Given the description of an element on the screen output the (x, y) to click on. 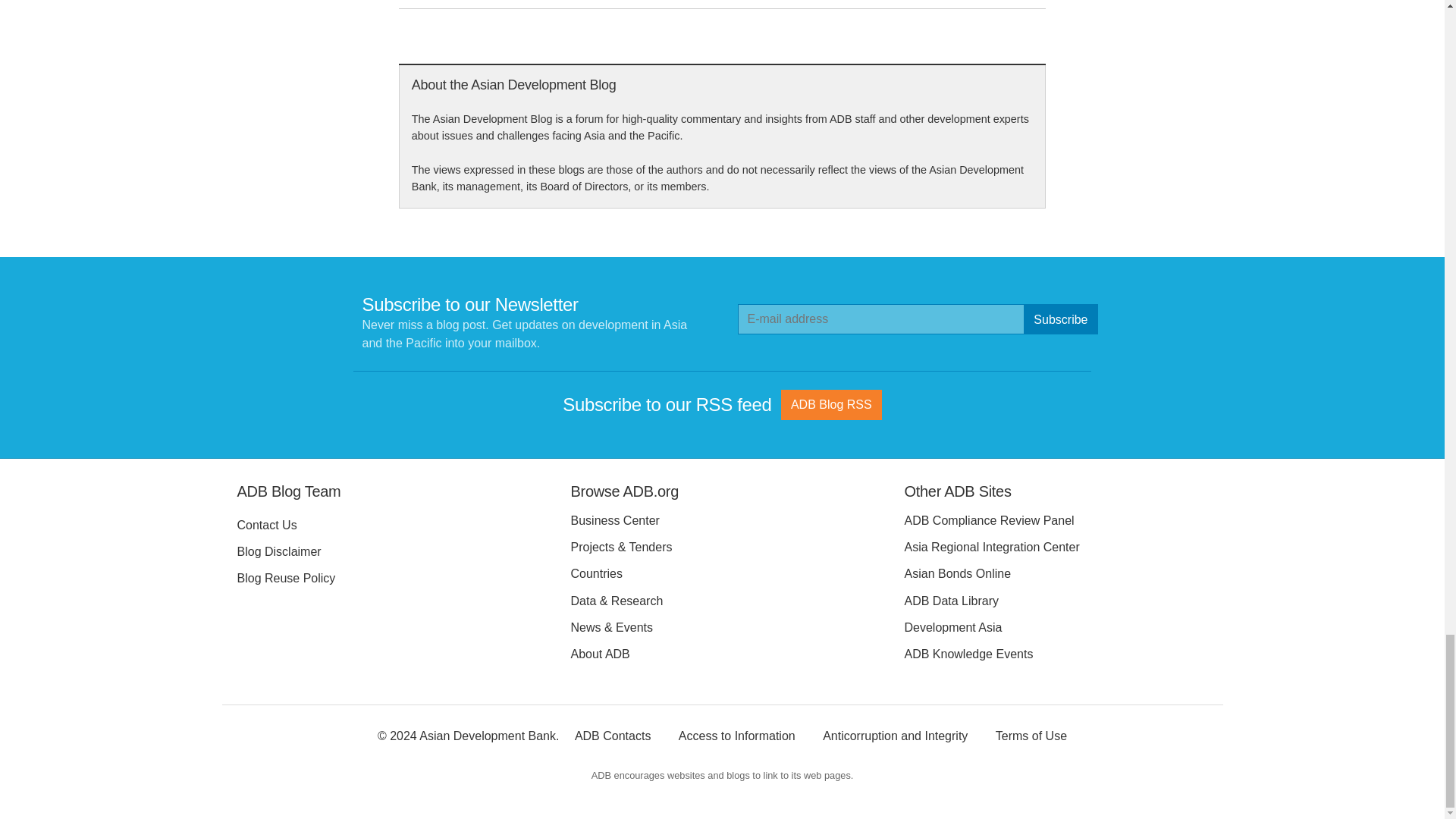
Subscribe (1060, 318)
